Given the description of an element on the screen output the (x, y) to click on. 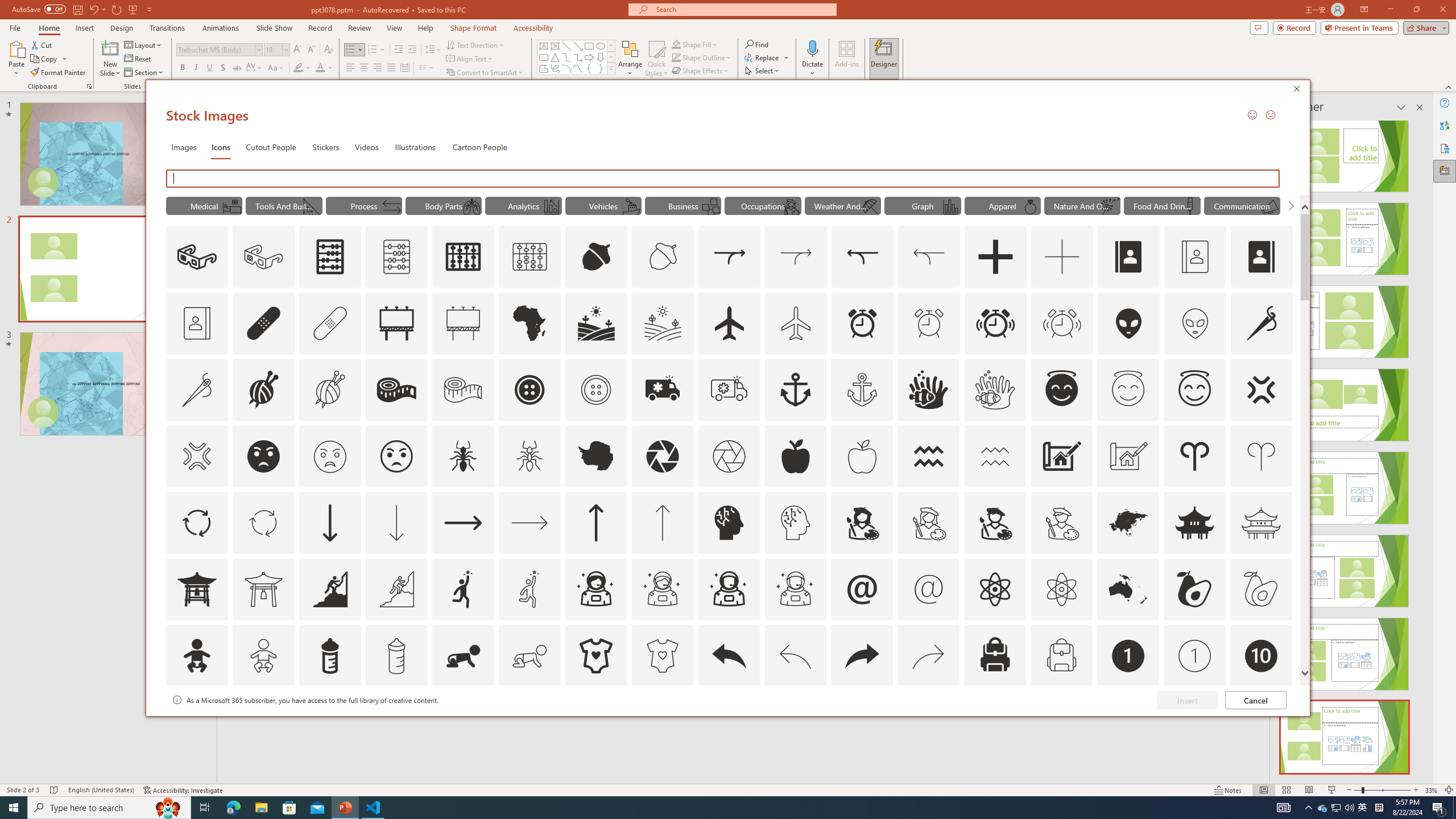
AutomationID: Icons_ArtistMale_M (1061, 522)
AutomationID: Icons_Atom_M (1061, 588)
AutomationID: Icons_Aspiration1_M (529, 588)
AutomationID: Icons_Ant (462, 455)
AutomationID: Icons_Acquisition_LTR_M (796, 256)
AutomationID: Icons_Badge7_M (995, 721)
AutomationID: Icons_AstronautMale_M (795, 588)
